Given the description of an element on the screen output the (x, y) to click on. 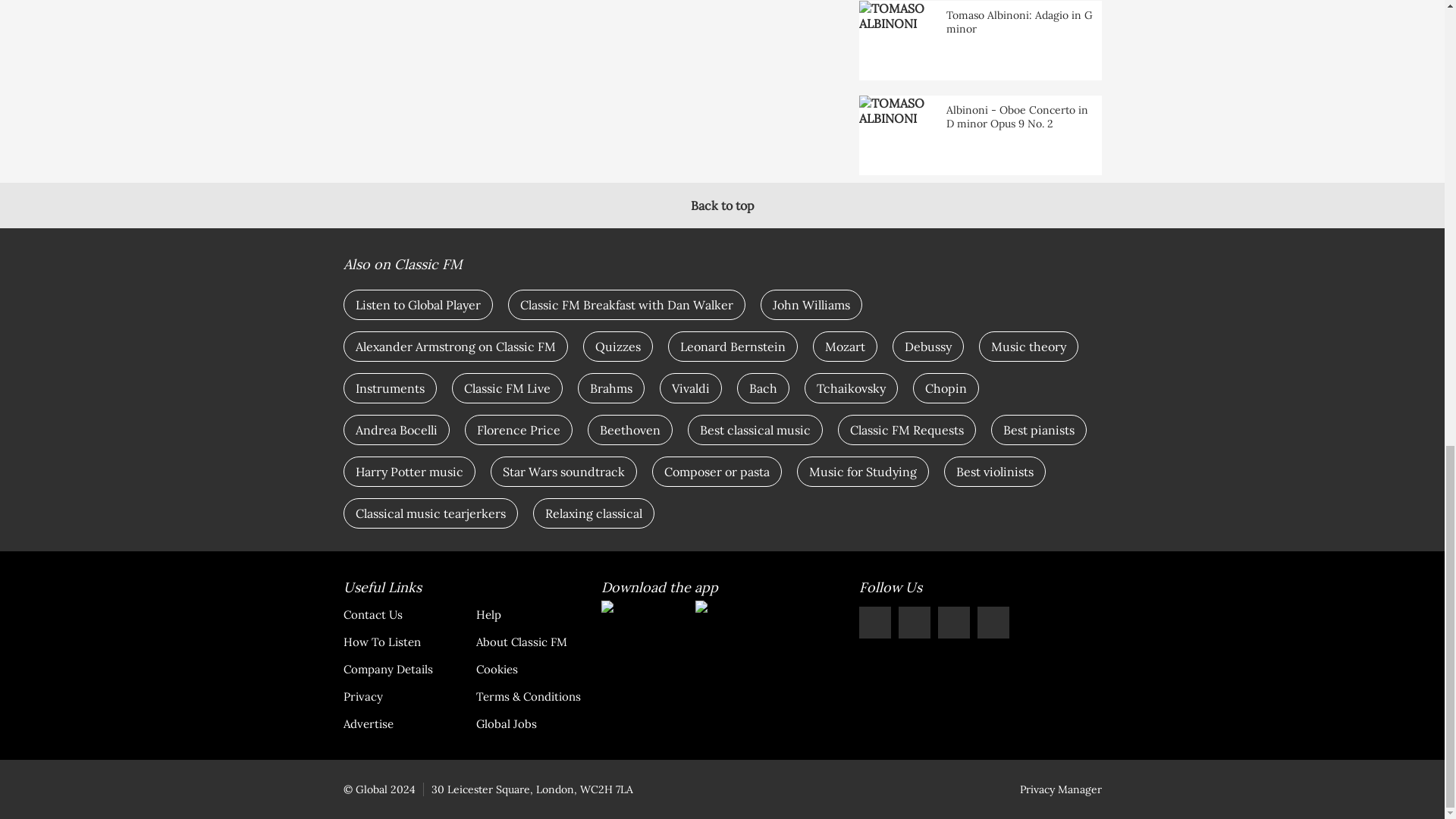
Tomaso Albinoni: Adagio in G minor (979, 40)
Follow Classic FM on Facebook (914, 622)
Back to top (722, 205)
Albinoni - Oboe Concerto in D minor Opus 9 No. 2 (979, 135)
Listen to Global Player (417, 304)
Follow Classic FM on Instagram (953, 622)
Back to top (722, 205)
Follow Classic FM on Youtube (992, 622)
Follow Classic FM on X (874, 622)
Classic FM Breakfast with Dan Walker (626, 304)
